Given the description of an element on the screen output the (x, y) to click on. 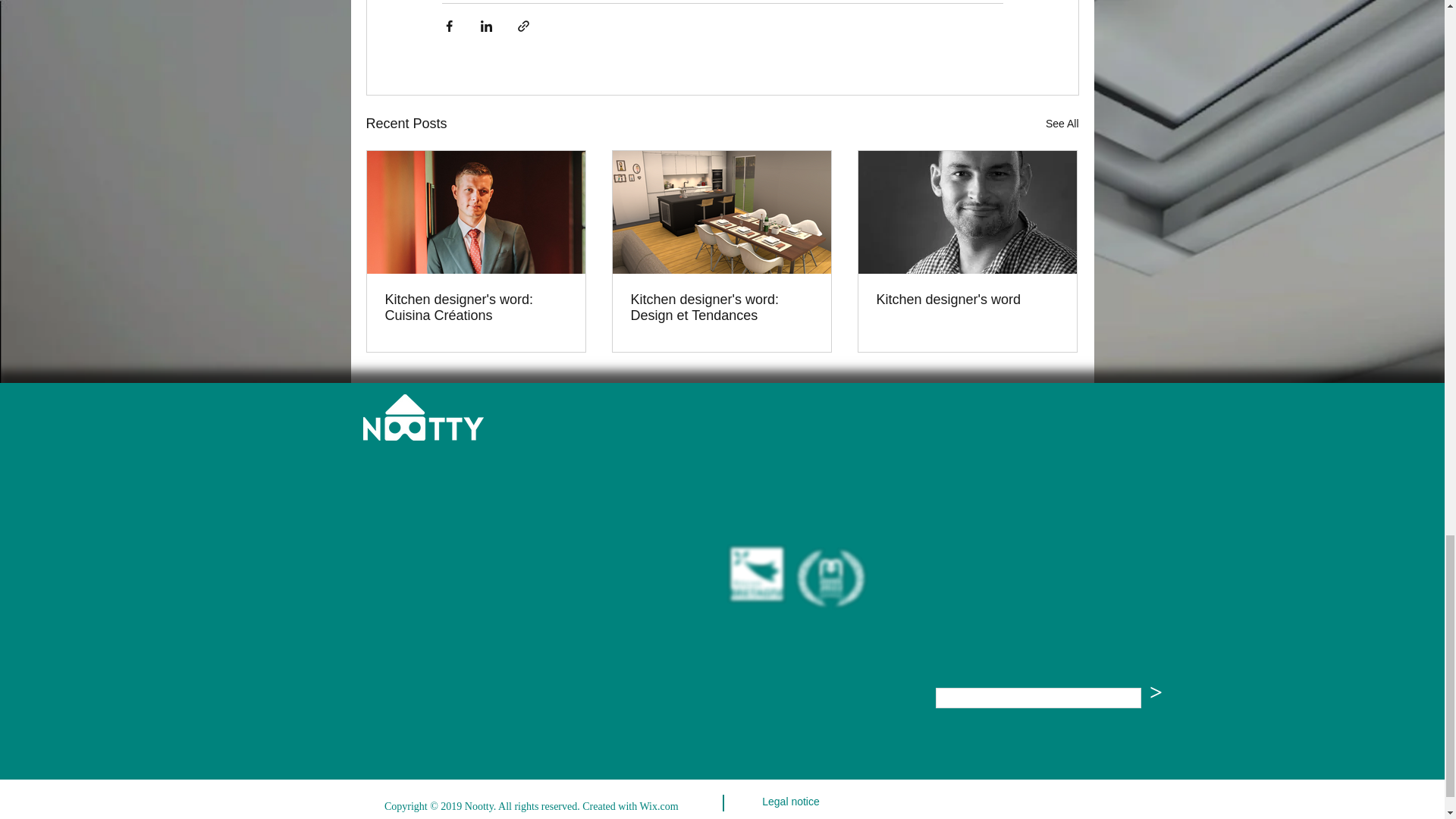
Legal notice (790, 801)
See All (1061, 124)
Kitchen designer's word (967, 299)
Kitchen designer's word: Design et Tendances (721, 307)
Wix.com  (660, 806)
